Given the description of an element on the screen output the (x, y) to click on. 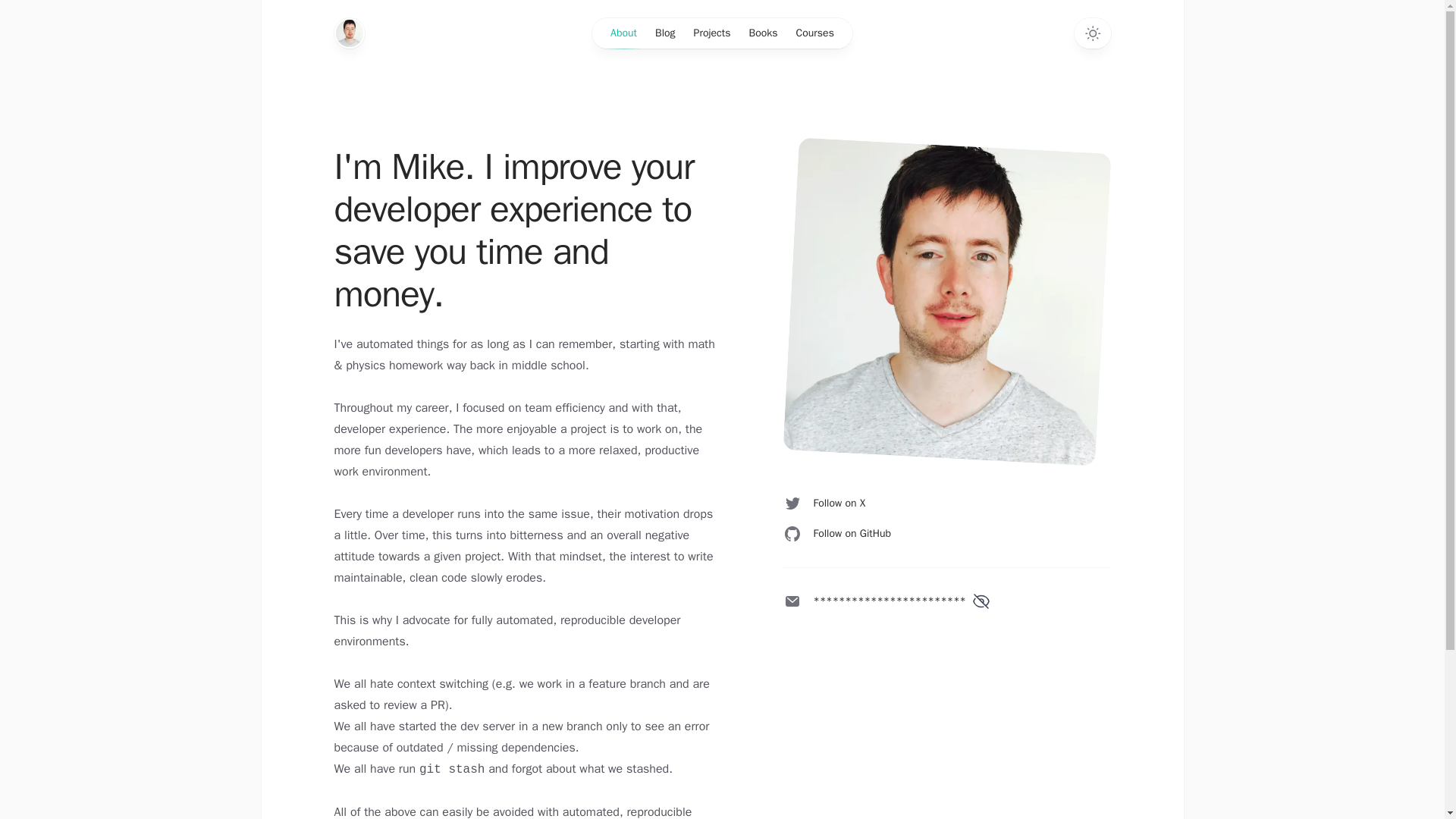
Projects (55, 102)
Menu (24, 37)
Books (51, 115)
Blog (47, 88)
About (51, 74)
Courses (55, 129)
